Given the description of an element on the screen output the (x, y) to click on. 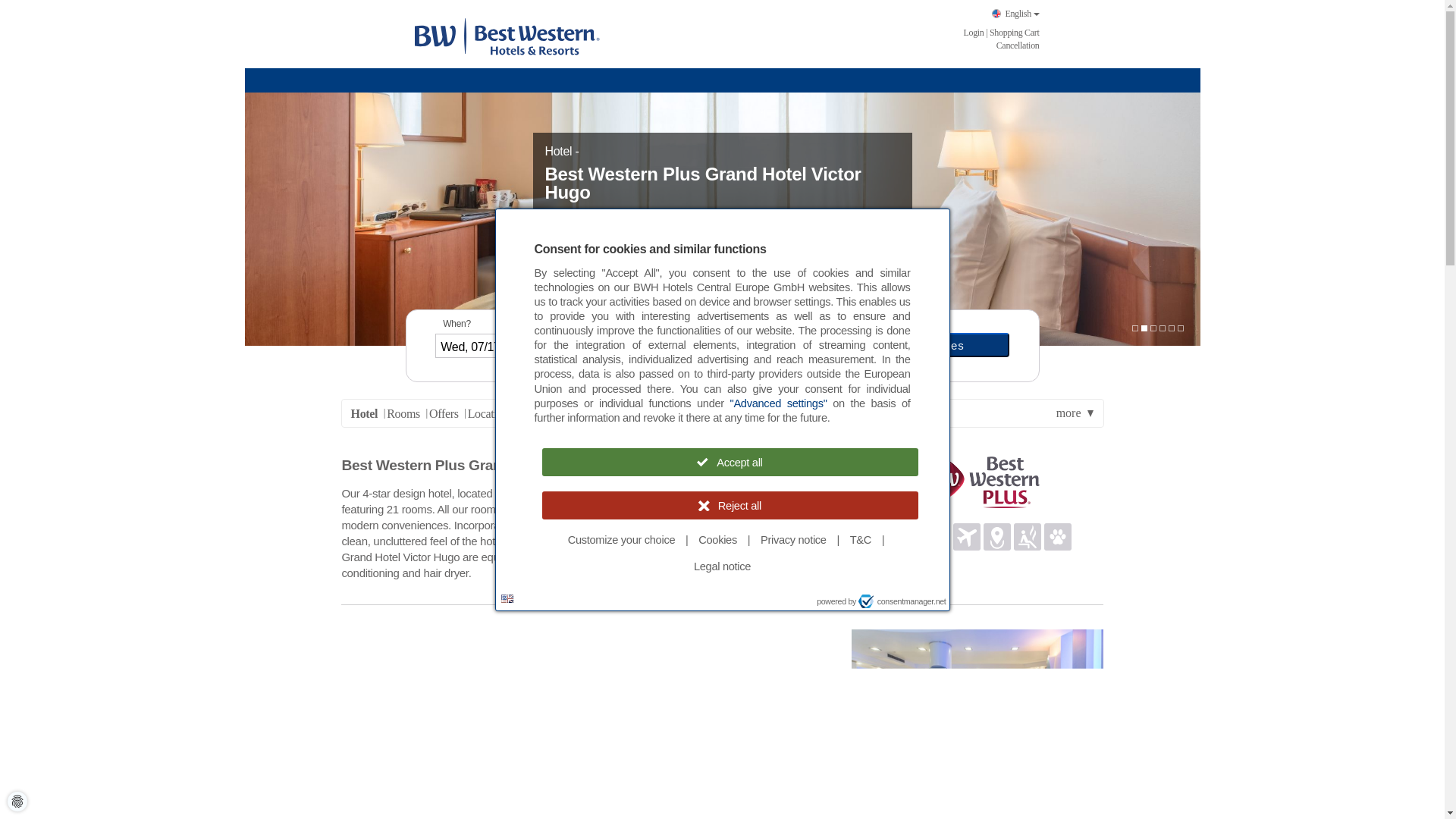
Privacy notice (793, 540)
Legal notice (721, 566)
English   (1015, 13)
Cookies (717, 540)
Customize your choice (621, 540)
Language: en (506, 598)
Your basket is empty.  (1014, 32)
Language: en (506, 598)
Shopping Cart (1014, 32)
consentmanager.net (902, 601)
show rates (933, 344)
Free WiFi (875, 532)
Best Western Hotels (505, 35)
Cancellation (1017, 45)
Cancellation (1017, 45)
